Given the description of an element on the screen output the (x, y) to click on. 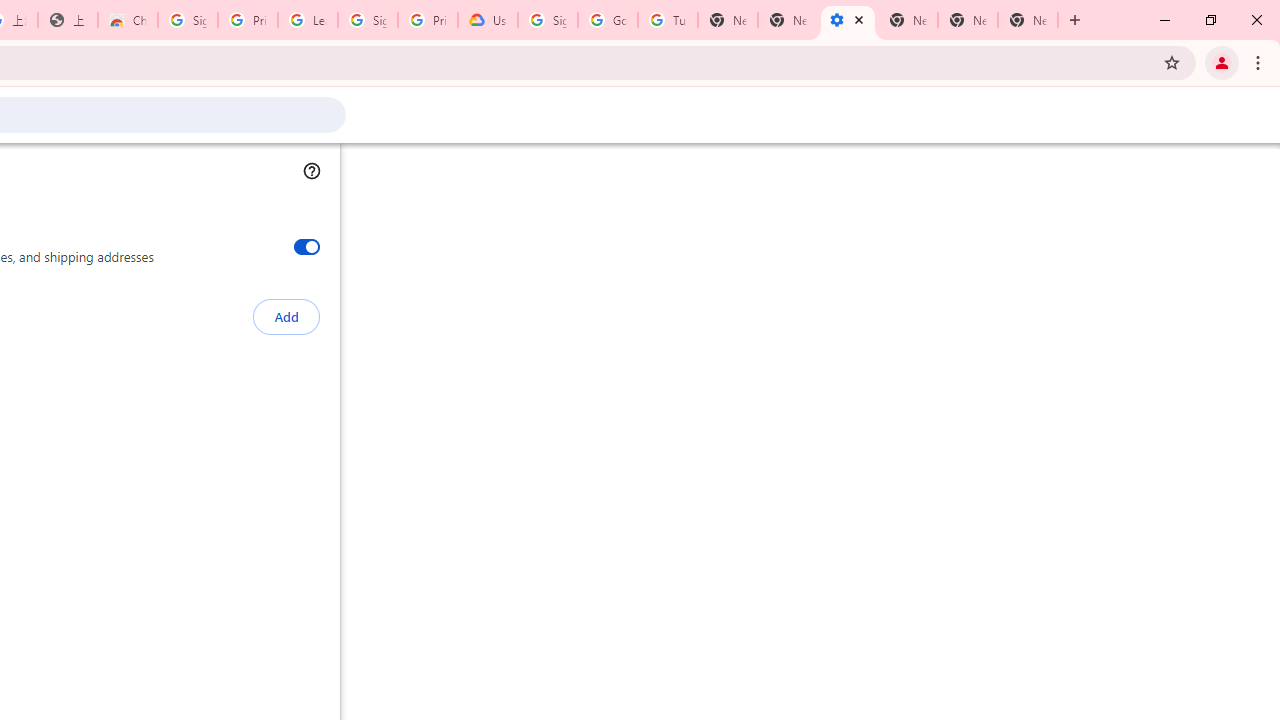
Google Account Help (607, 20)
New Tab (1028, 20)
Sign in - Google Accounts (548, 20)
Chrome Web Store - Color themes by Chrome (127, 20)
Sign in - Google Accounts (187, 20)
Settings - Addresses and more (847, 20)
Turn cookies on or off - Computer - Google Account Help (667, 20)
